Given the description of an element on the screen output the (x, y) to click on. 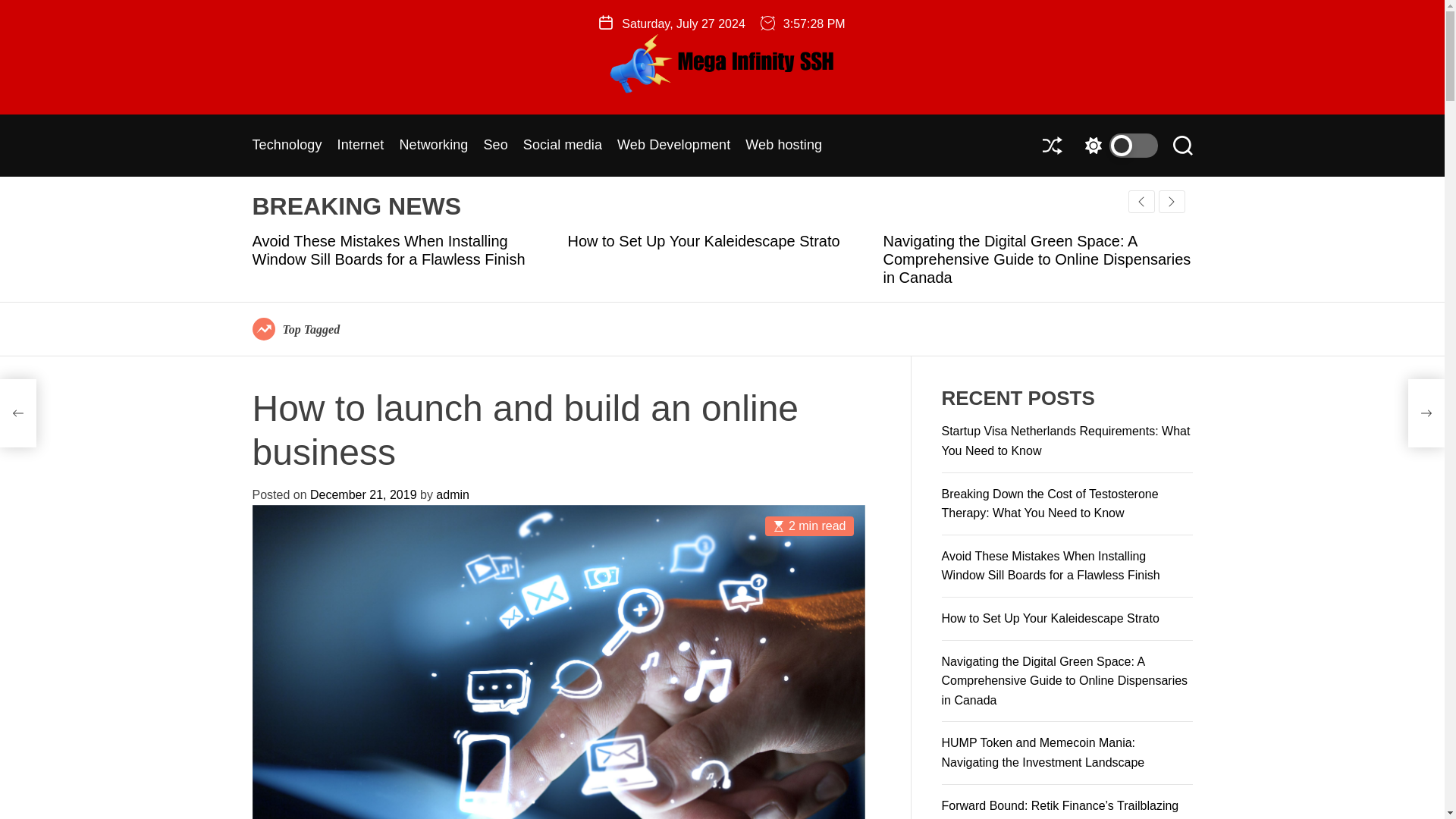
Networking (432, 145)
Internet (360, 145)
admin (451, 494)
Seo (494, 145)
Shuffle (1051, 145)
Web Development (673, 145)
Technology (286, 145)
Switch color mode (1117, 145)
Web hosting (783, 145)
Search (1182, 145)
How to Set Up Your Kaleidescape Strato (703, 240)
December 21, 2019 (363, 494)
Social media (562, 145)
